Given the description of an element on the screen output the (x, y) to click on. 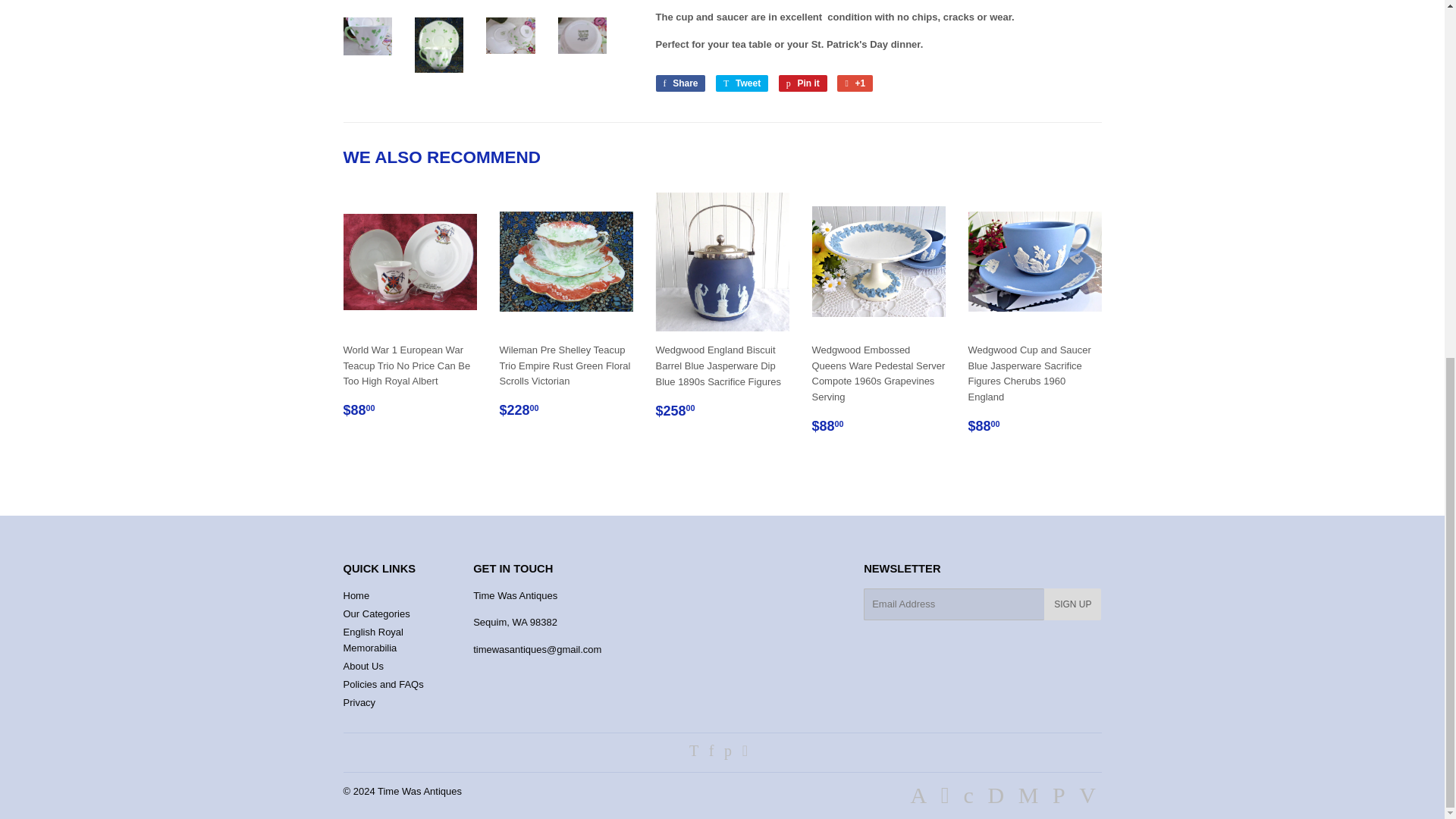
Pin on Pinterest (802, 83)
Share on Facebook (679, 83)
Time Was Antiques on Pinterest (727, 752)
Time Was Antiques on Facebook (711, 752)
Time Was Antiques on Twitter (693, 752)
Tweet on Twitter (742, 83)
Time Was Antiques on Google (745, 752)
